Given the description of an element on the screen output the (x, y) to click on. 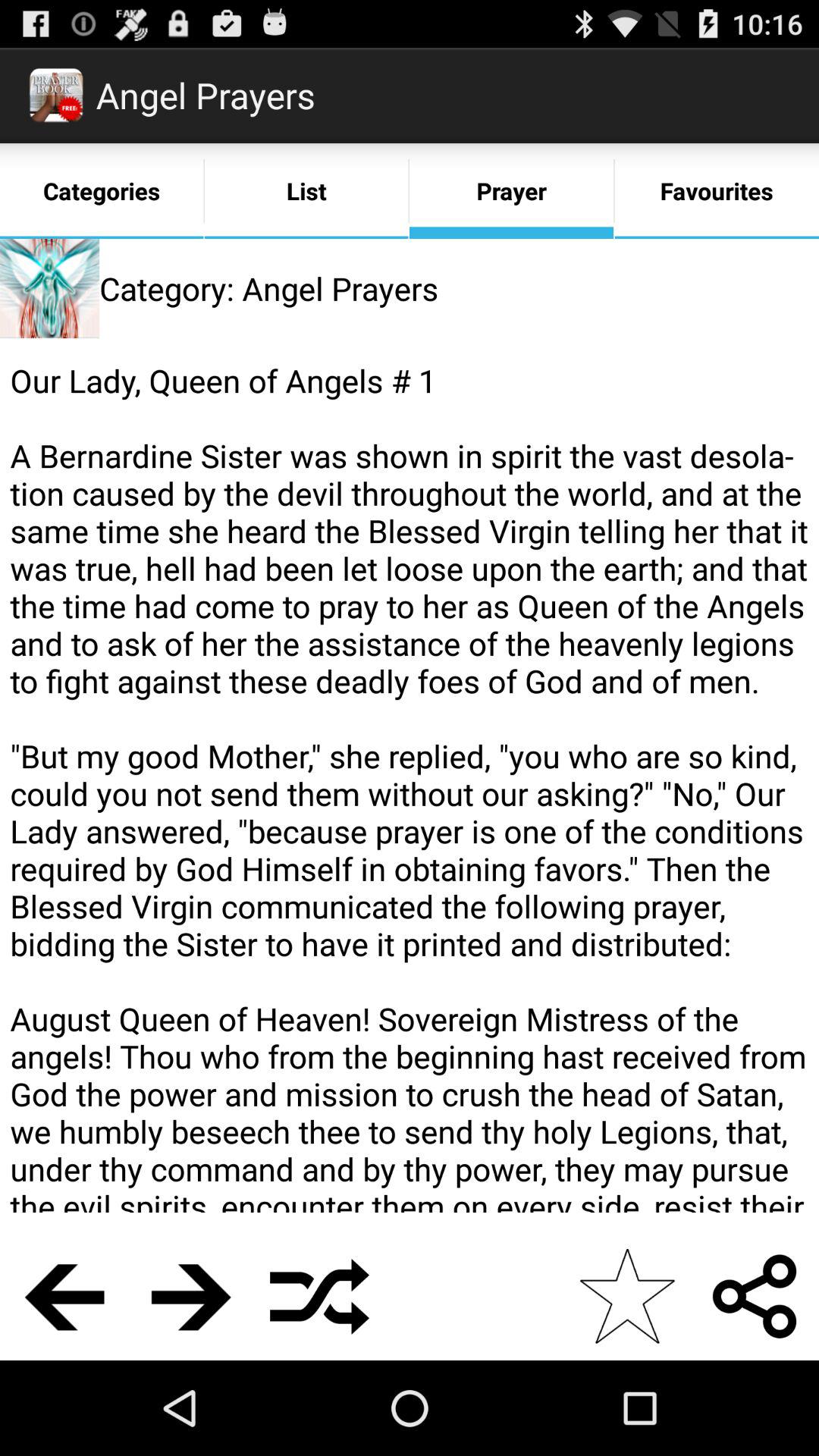
go to previous (63, 1296)
